Given the description of an element on the screen output the (x, y) to click on. 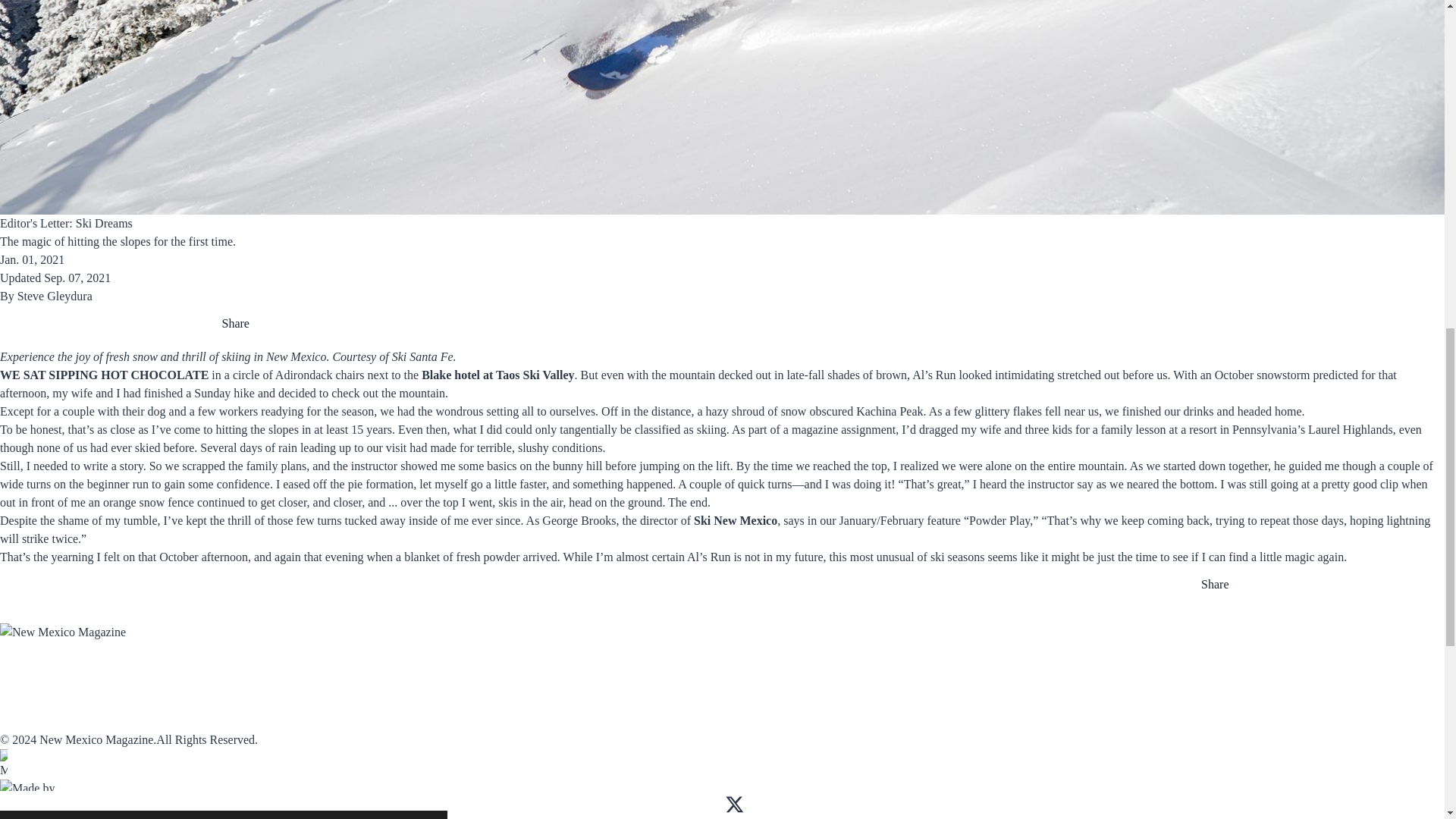
Contact Us (32, 720)
About Us (25, 704)
Archive (313, 670)
App (154, 670)
Privacy Policy (333, 720)
Store (598, 670)
Subscribe (28, 670)
Sitemap (312, 704)
Advertise (464, 670)
Visit our Twitter page (734, 804)
